Given the description of an element on the screen output the (x, y) to click on. 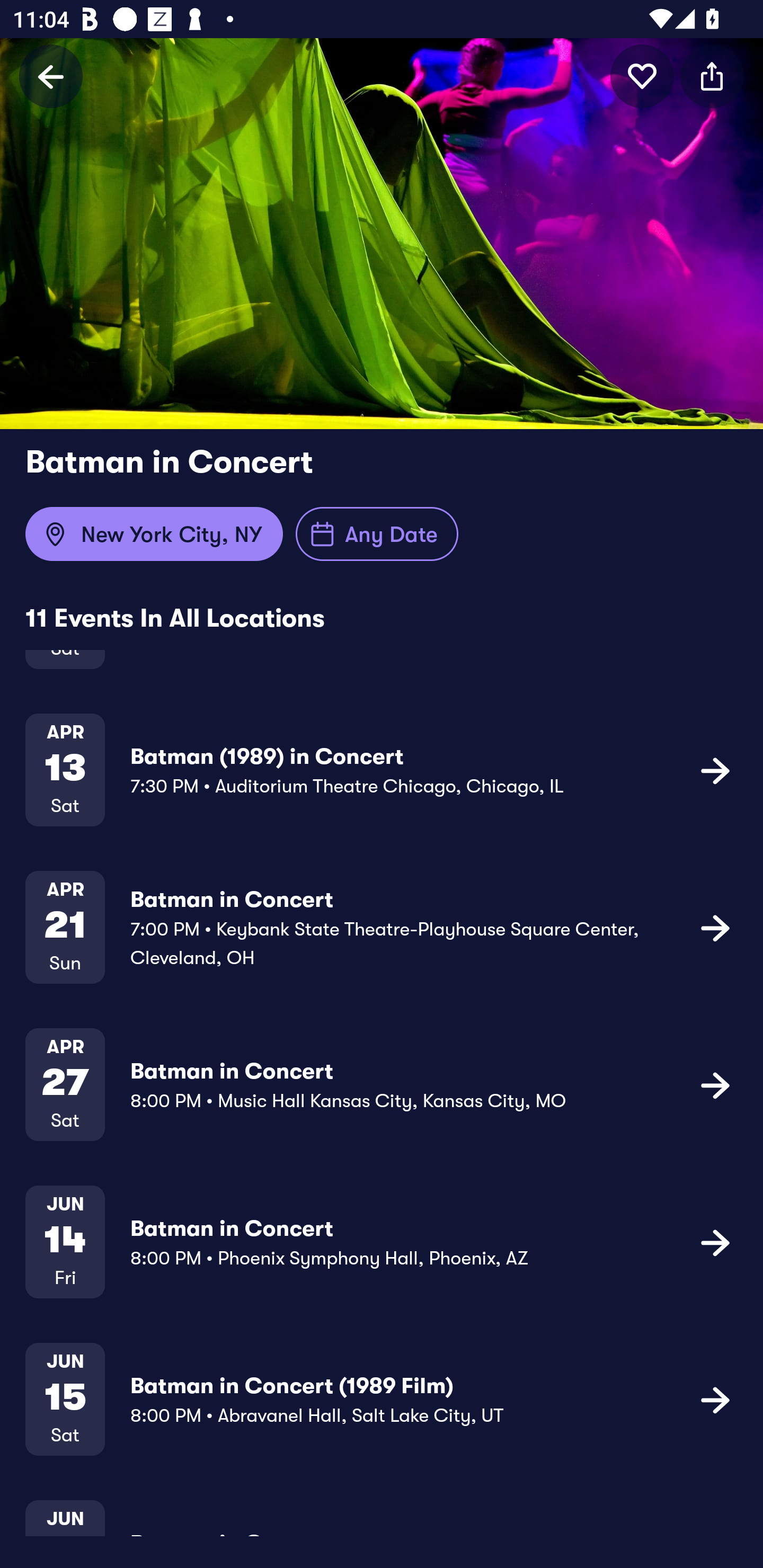
Back (50, 75)
icon button (641, 75)
icon button (711, 75)
New York City, NY (153, 533)
Any Date (377, 533)
icon button (714, 769)
icon button (714, 927)
icon button (714, 1085)
icon button (714, 1241)
icon button (714, 1399)
